Given the description of an element on the screen output the (x, y) to click on. 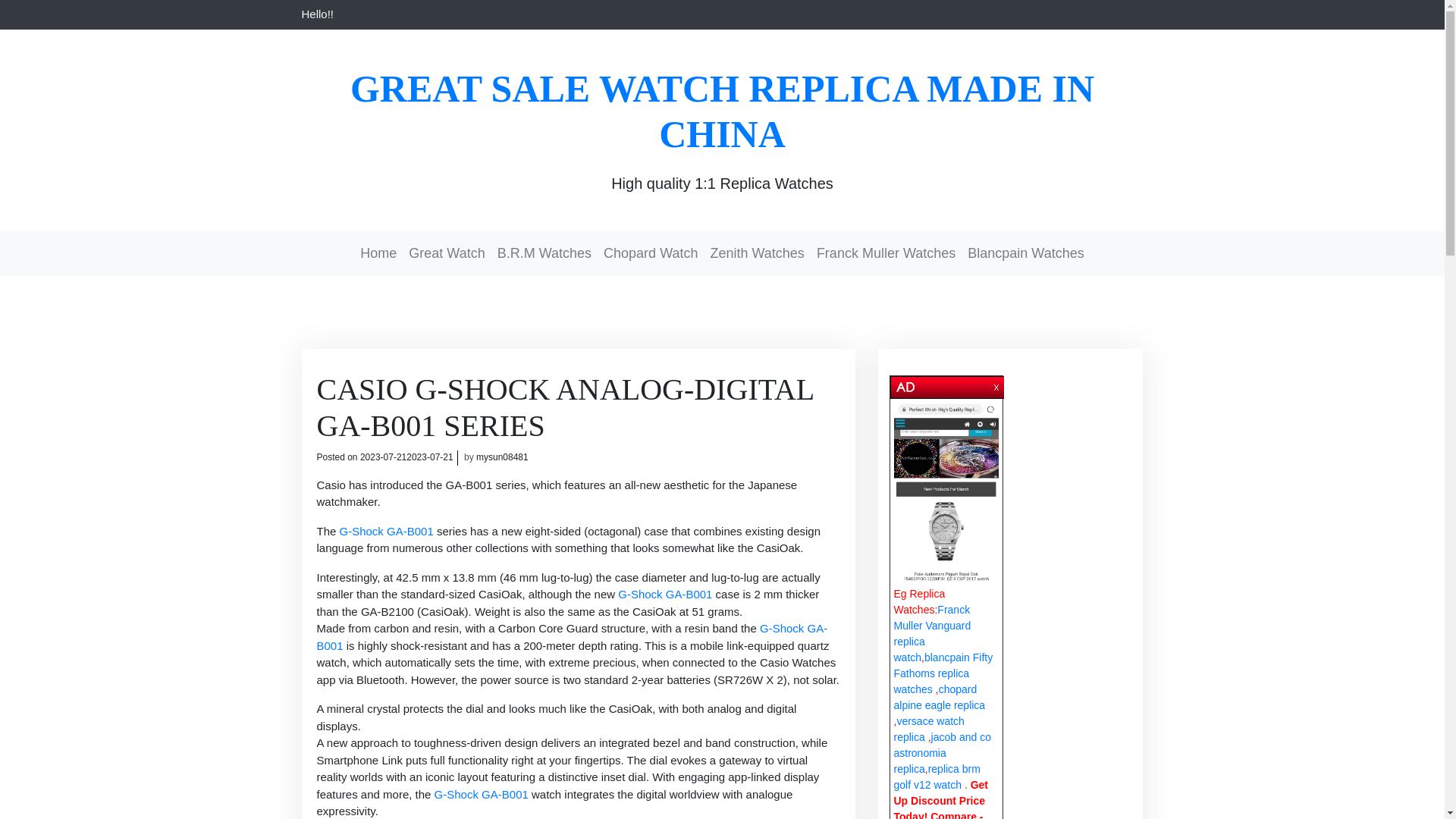
blancpain Fifty Fathoms replica watches (942, 673)
versace watch replica (928, 728)
Great Watch (446, 252)
jacob and co astronomia replica (941, 752)
B.R.M Watches (544, 252)
replica brm golf v12 watch (936, 776)
G-Shock GA-B001 (386, 530)
mysun08481 (502, 457)
Home (378, 252)
2023-07-212023-07-21 (405, 457)
